Given the description of an element on the screen output the (x, y) to click on. 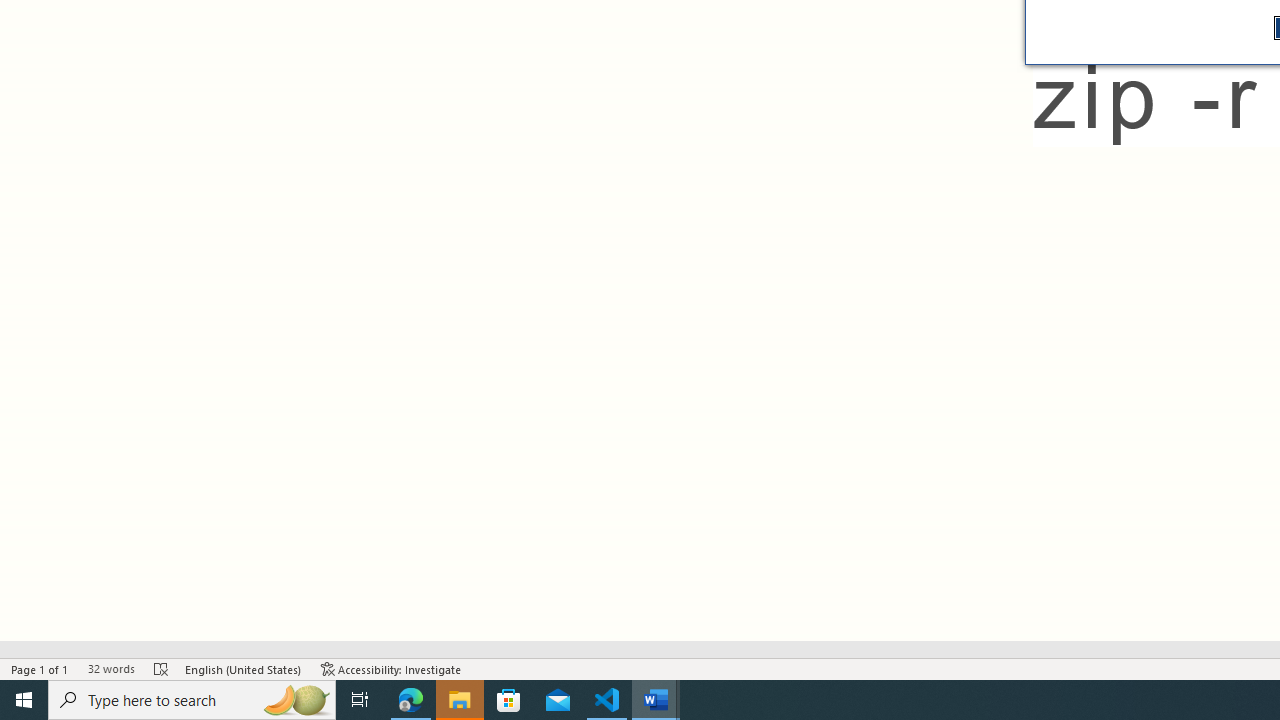
Microsoft Edge - 1 running window (411, 699)
Word Count 32 words (111, 668)
Page Number Page 1 of 1 (39, 668)
Word - 2 running windows (656, 699)
